Given the description of an element on the screen output the (x, y) to click on. 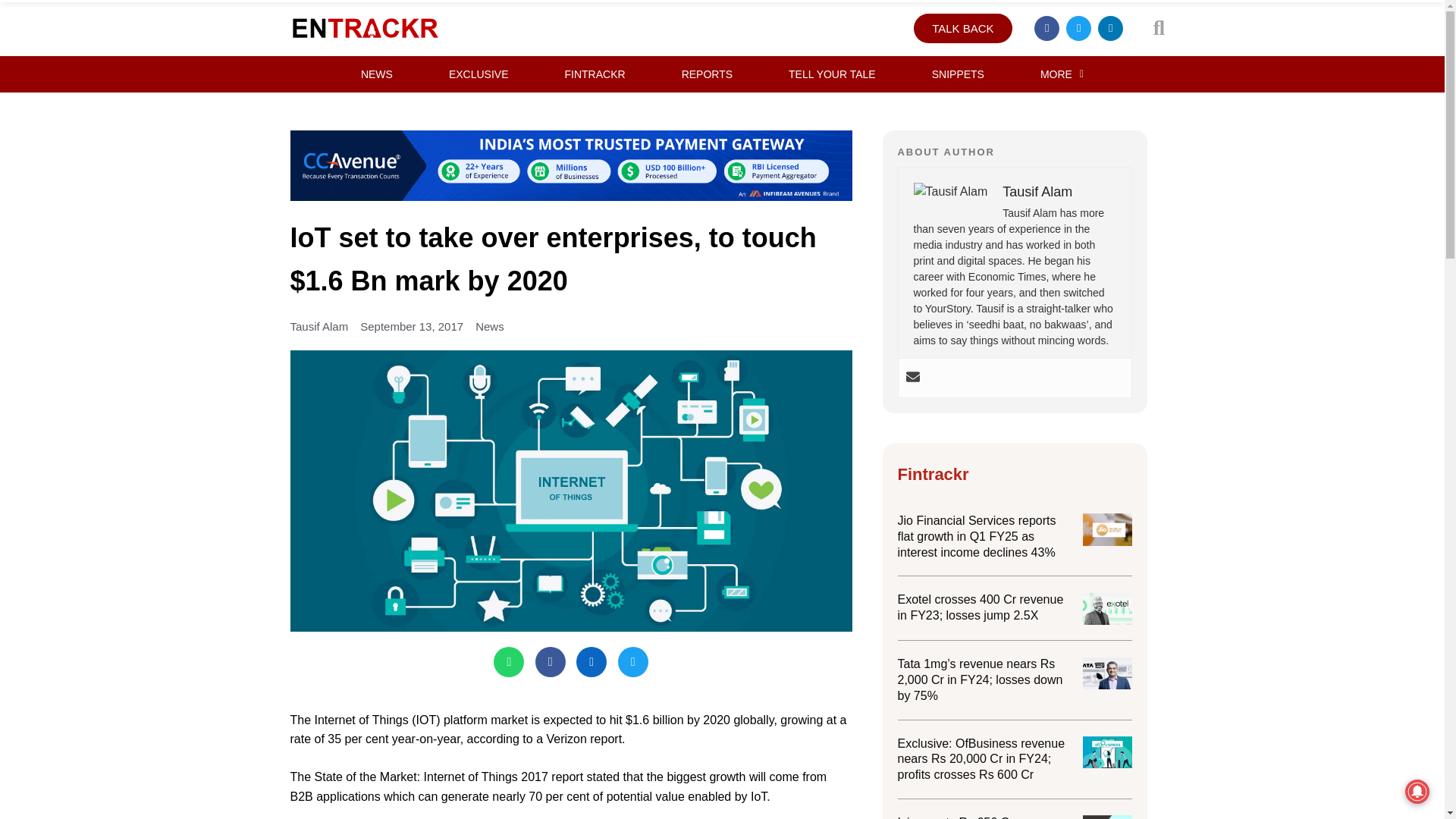
NEWS (376, 74)
MORE (1061, 74)
EXCLUSIVE (478, 74)
TELL YOUR TALE (832, 74)
REPORTS (706, 74)
TALK BACK (962, 28)
SNIPPETS (957, 74)
FINTRACKR (595, 74)
